Given the description of an element on the screen output the (x, y) to click on. 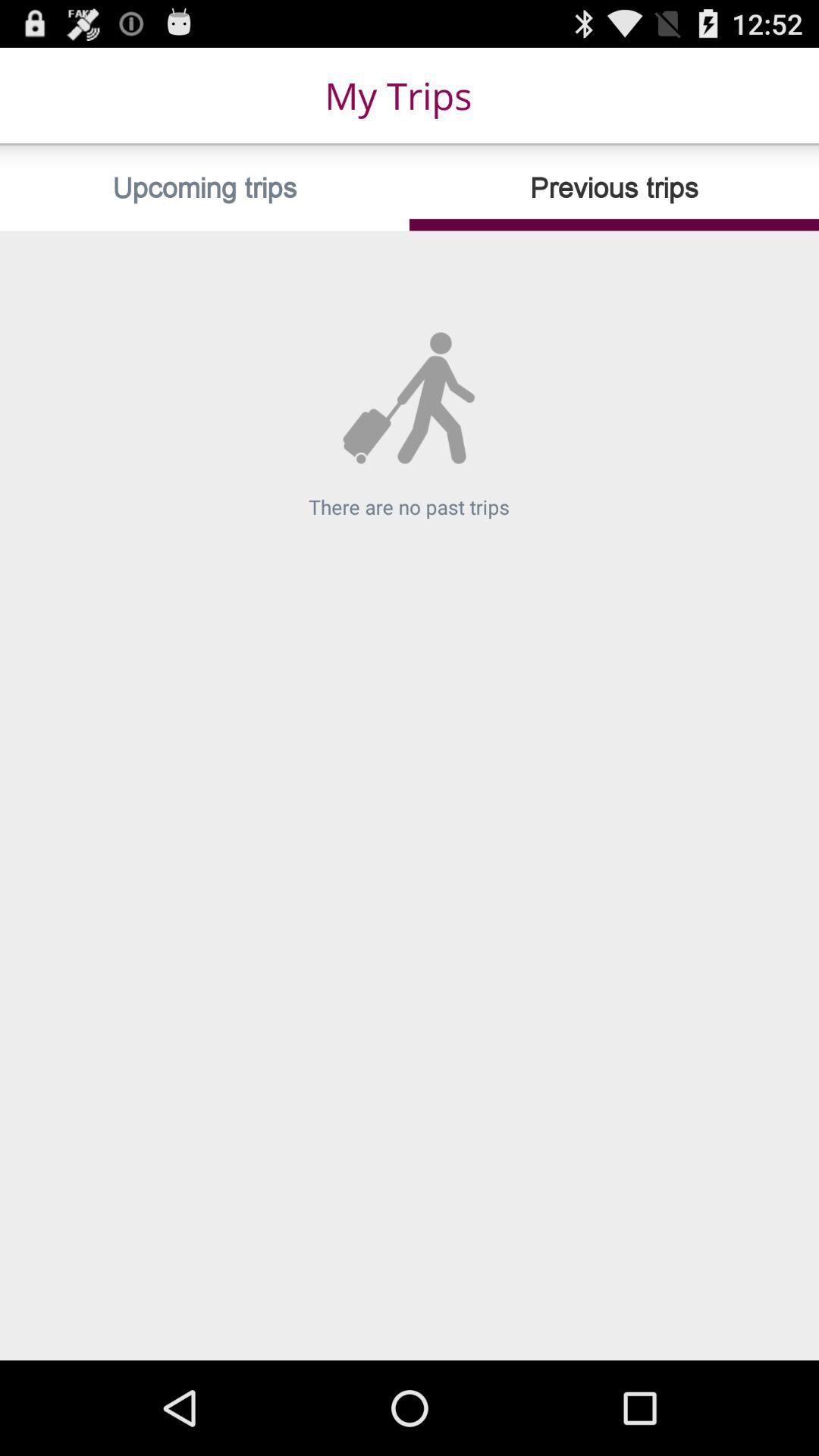
choose upcoming trips item (204, 187)
